Given the description of an element on the screen output the (x, y) to click on. 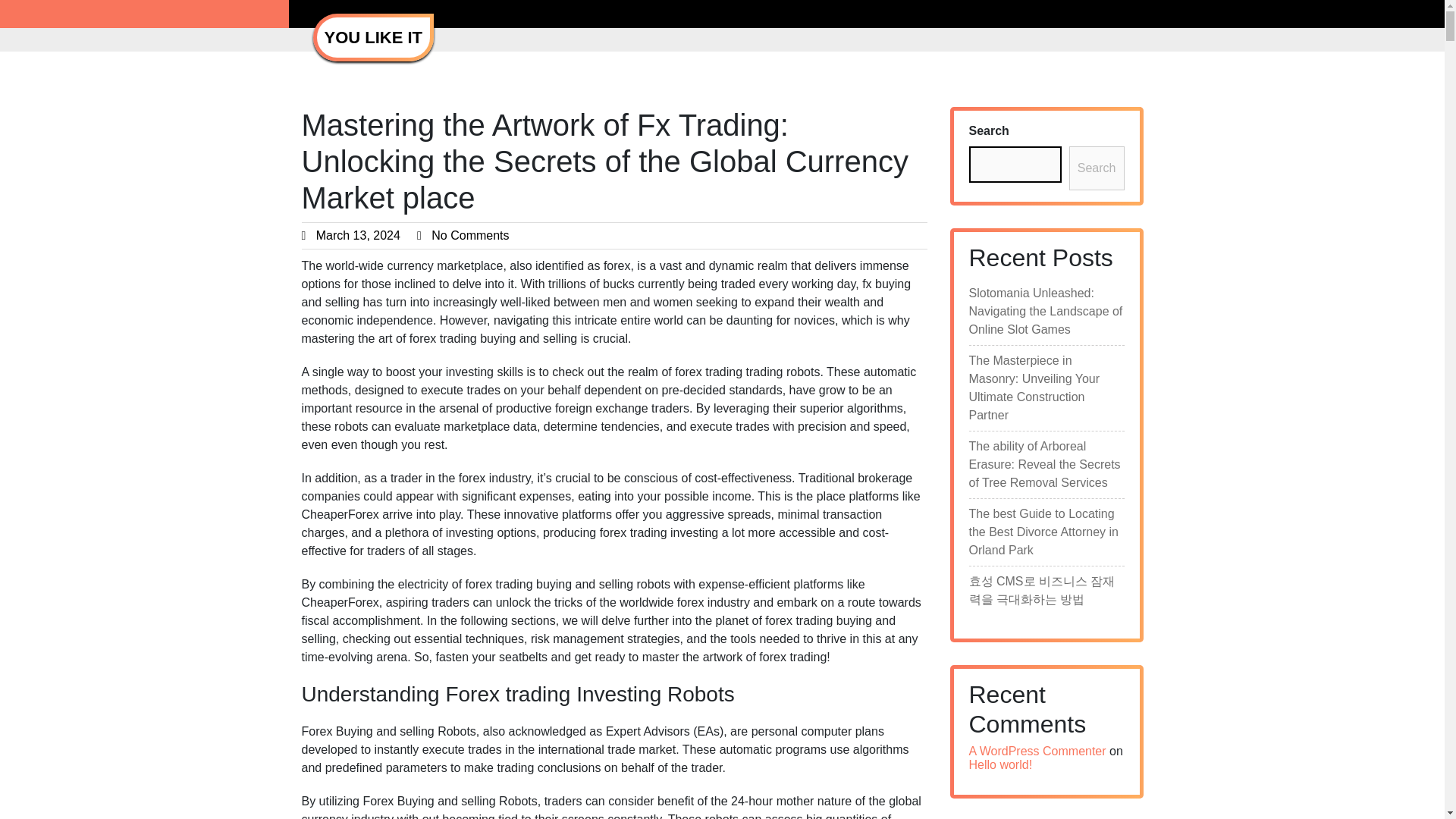
No Comments (469, 235)
A WordPress Commenter (1037, 750)
YOU LIKE IT (373, 36)
Search (1096, 168)
Hello world! (1000, 764)
